Given the description of an element on the screen output the (x, y) to click on. 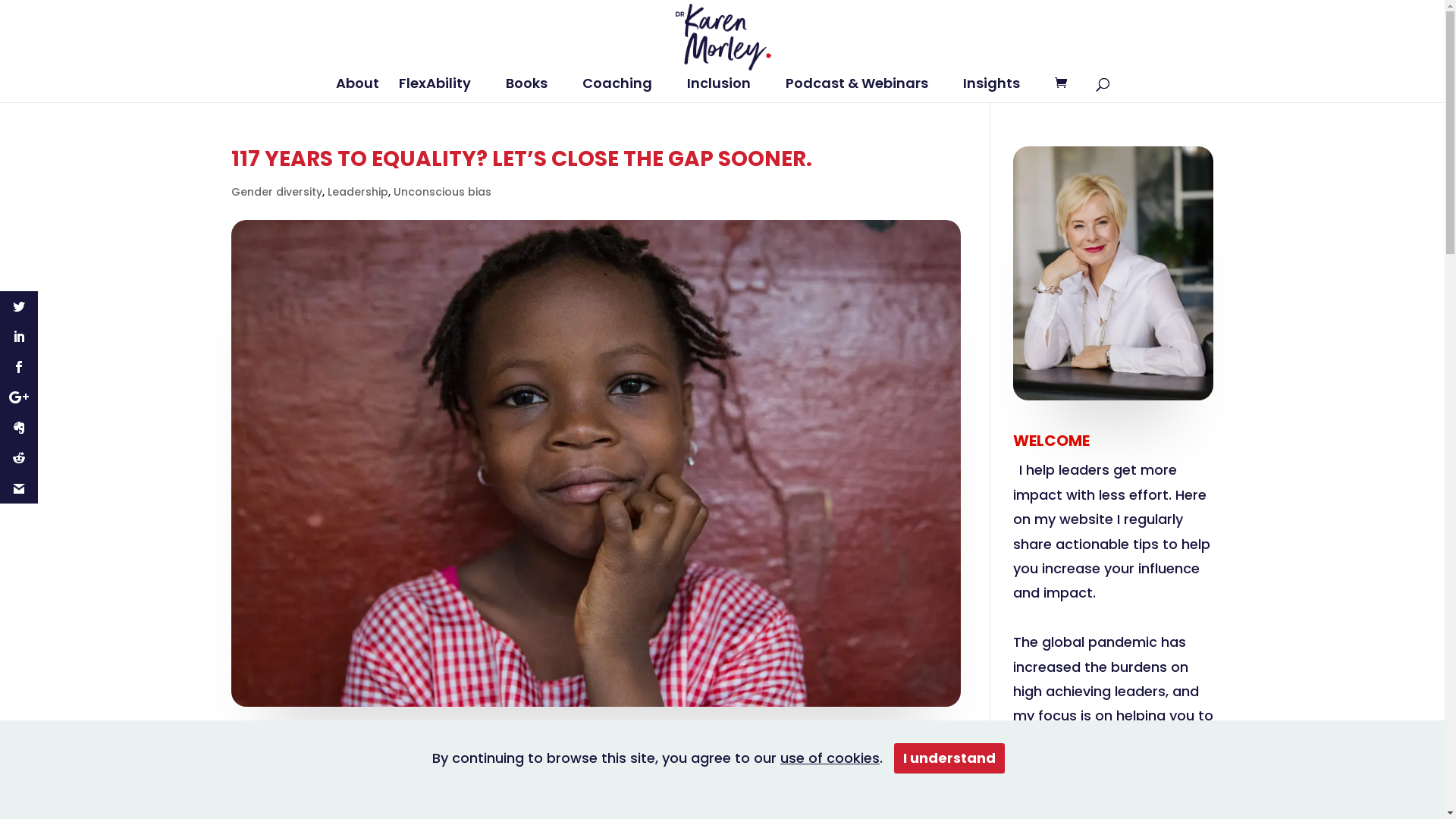
FlexAbility Element type: text (442, 90)
Gender diversity Element type: text (275, 191)
Unconscious bias Element type: text (441, 191)
use of cookies Element type: text (829, 757)
I understand Element type: text (949, 758)
Leadership Element type: text (357, 191)
Podcast & Webinars Element type: text (864, 90)
Inclusion Element type: text (726, 90)
Insights Element type: text (999, 90)
Books Element type: text (533, 90)
About Element type: text (356, 90)
Coaching Element type: text (624, 90)
